Given the description of an element on the screen output the (x, y) to click on. 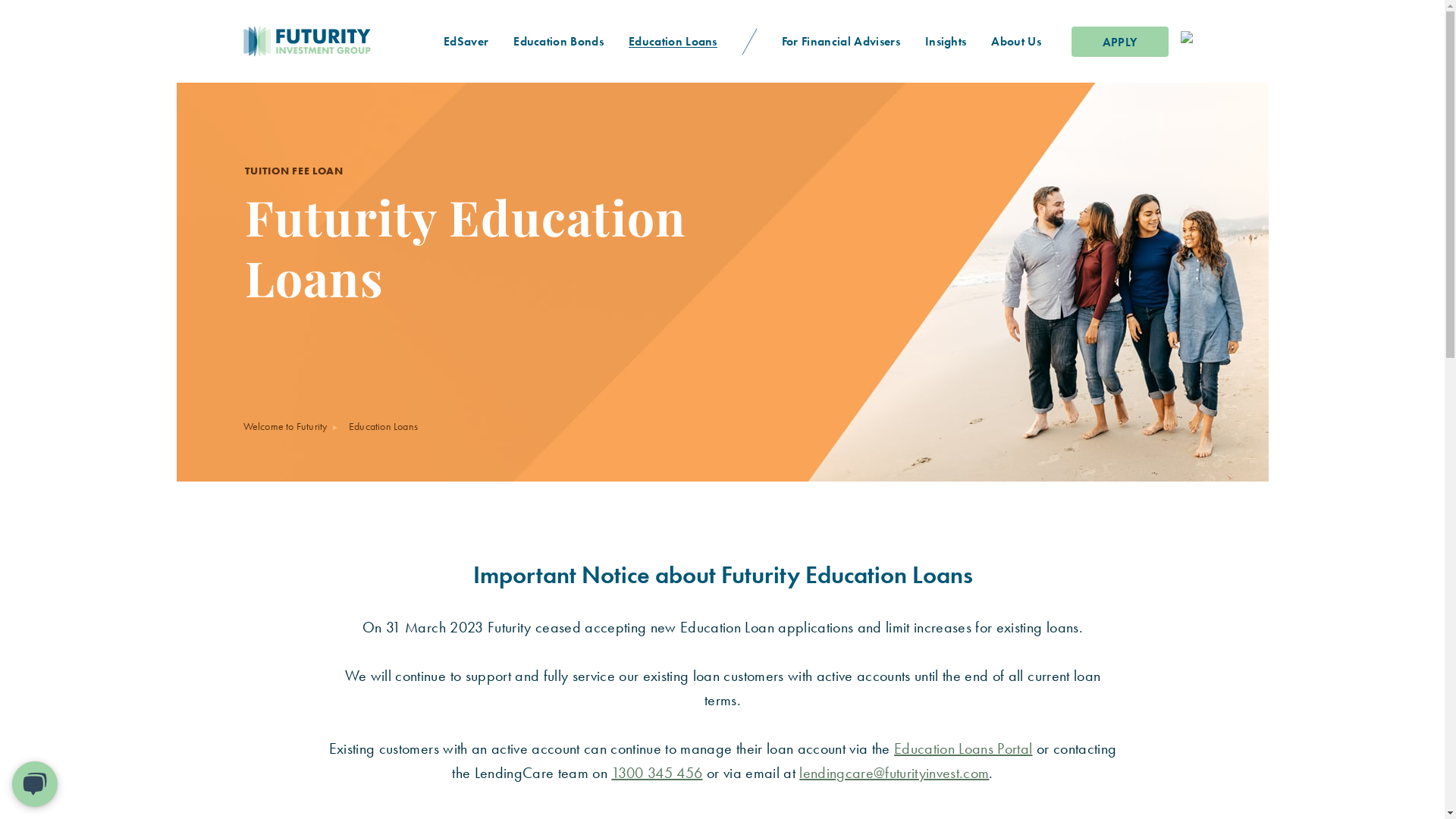
EdSaver Element type: text (465, 40)
For Financial Advisers Element type: text (840, 40)
Education Bonds Element type: text (558, 40)
APPLY Element type: text (1118, 40)
Welcome to Futurity Element type: text (284, 426)
1300 345 456 Element type: text (656, 772)
Education Loans Element type: text (673, 40)
Education Loans Portal Element type: text (963, 748)
About Us Element type: text (1016, 40)
Futurity | Investment Group Element type: hover (255, 41)
lendingcare@futurityinvest.com Element type: text (893, 772)
Insights Element type: text (945, 40)
